Given the description of an element on the screen output the (x, y) to click on. 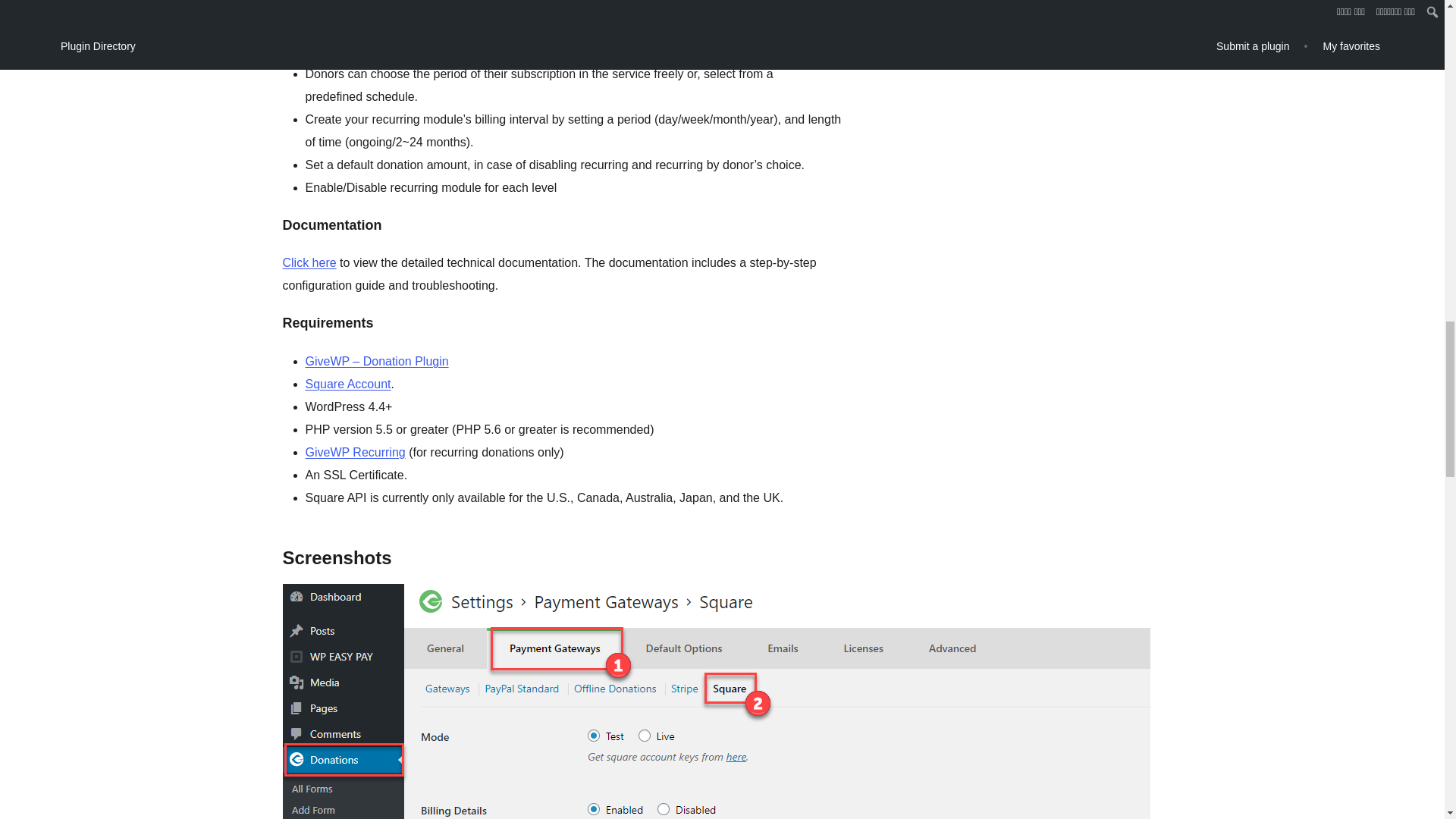
GiveWP Recurring (354, 451)
Click here (309, 262)
Square Account (347, 383)
